Given the description of an element on the screen output the (x, y) to click on. 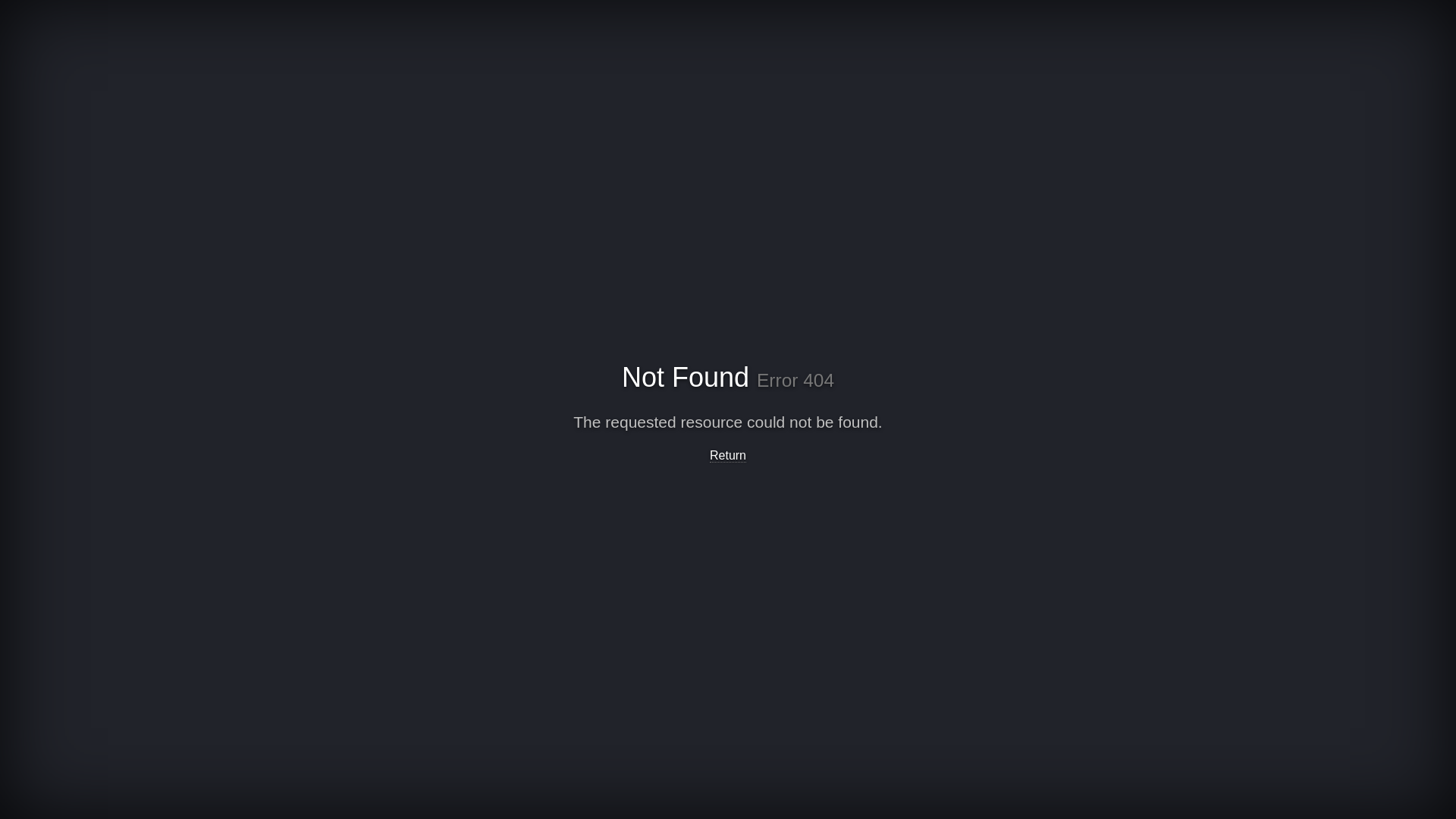
Return Element type: text (727, 455)
